Given the description of an element on the screen output the (x, y) to click on. 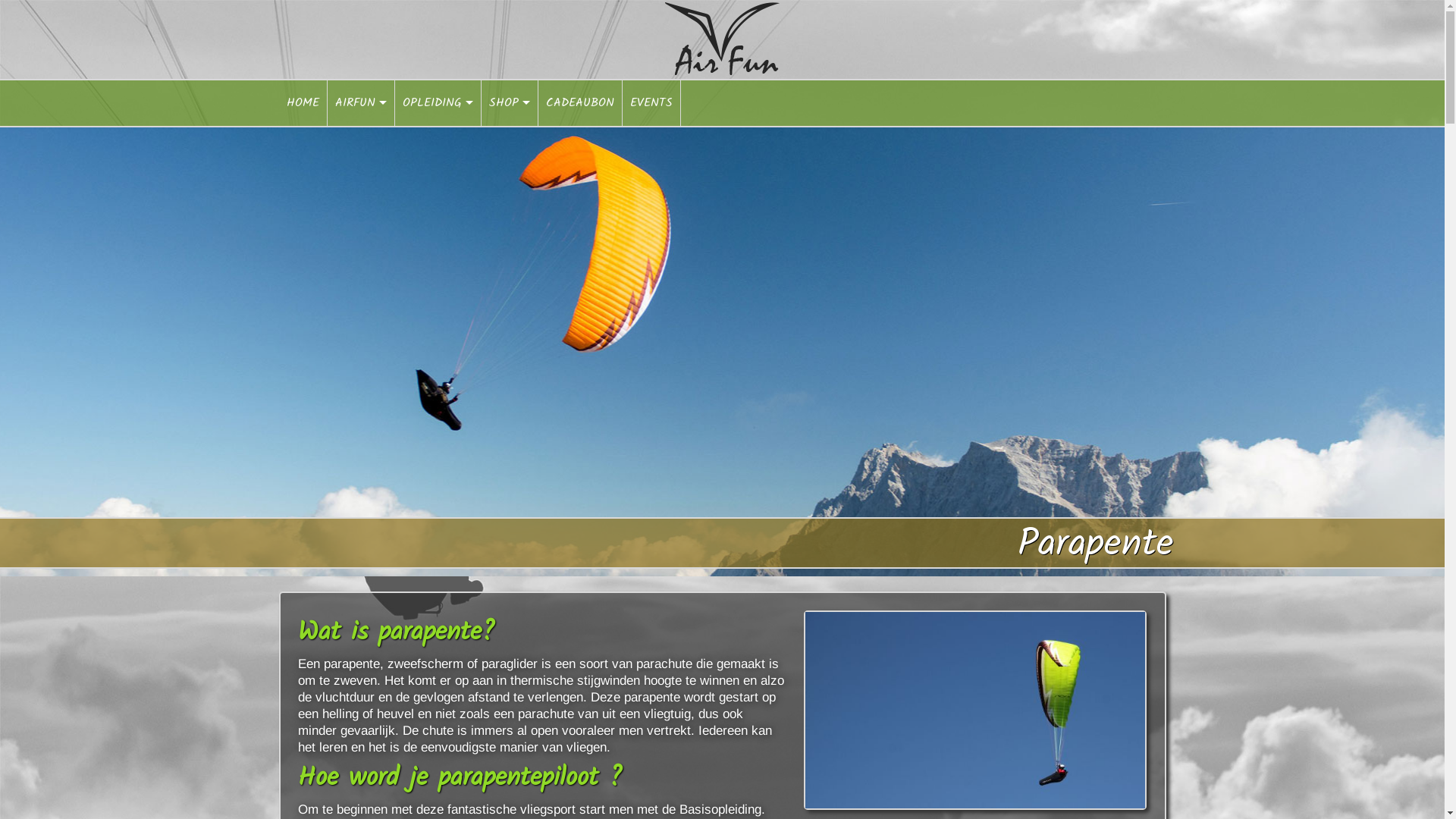
EVENTS Element type: text (650, 102)
OPLEIDING Element type: text (437, 102)
HOME Element type: text (303, 102)
SHOP Element type: text (508, 102)
CADEAUBON Element type: text (580, 102)
AIRFUN Element type: text (361, 102)
